Given the description of an element on the screen output the (x, y) to click on. 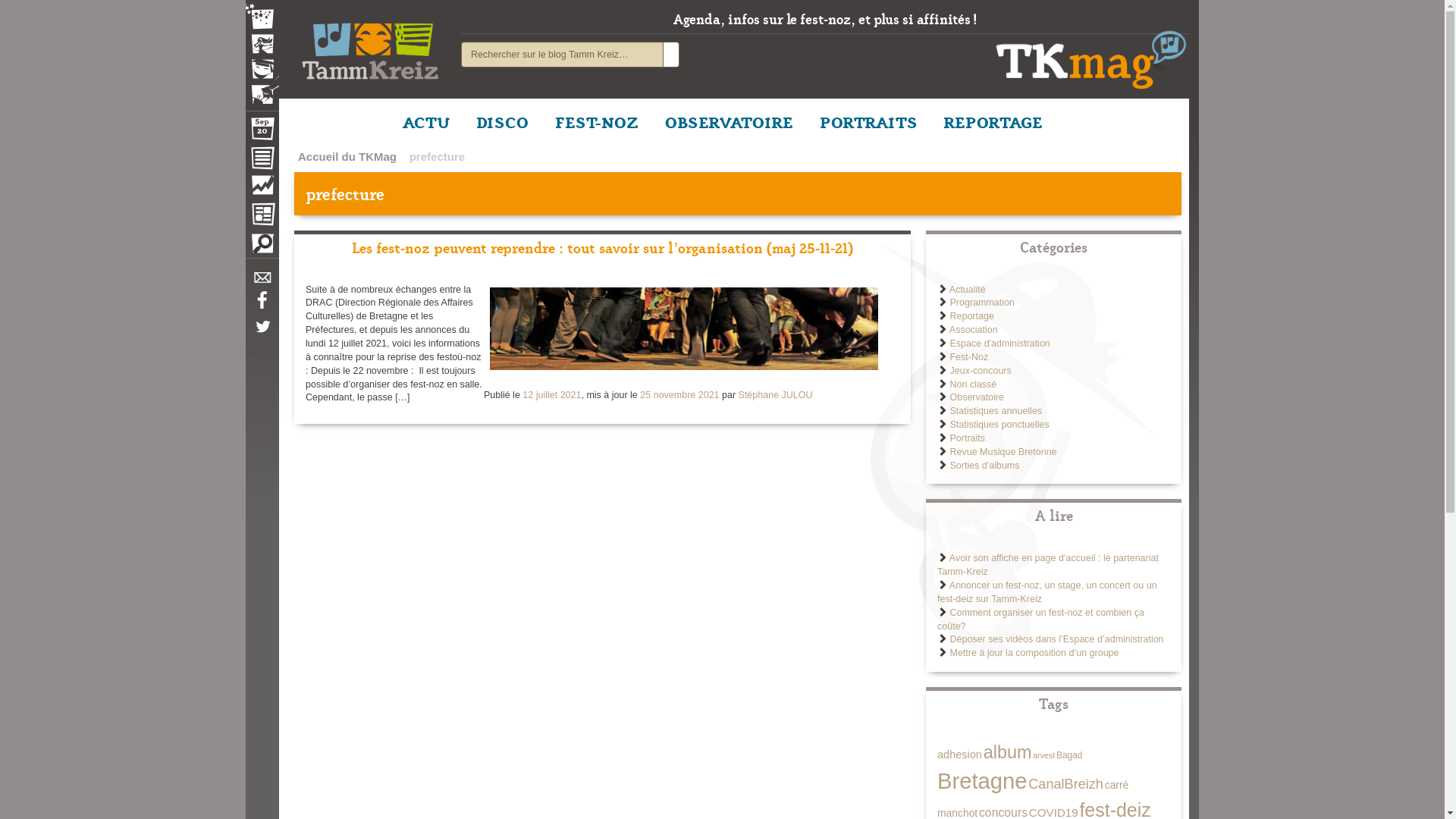
ACTU Element type: text (425, 120)
adhesion Element type: text (959, 754)
Contact Element type: text (262, 281)
Accueil du TKMag Element type: text (347, 156)
Ensembles traditionnels Element type: text (262, 88)
OBSERVATOIRE Element type: text (729, 120)
Bretagne Element type: text (981, 780)
Portraits Element type: text (967, 438)
Espace d'administration Element type: text (999, 343)
arvest Element type: text (1043, 754)
Programmation Element type: text (981, 302)
Petites annonces Element type: text (262, 246)
Bagad Element type: text (1069, 754)
Facebook Element type: text (262, 305)
Fest-Noz Element type: text (968, 356)
Annuaire Element type: text (262, 160)
Twitter Element type: text (262, 334)
25 novembre 2021 Element type: text (679, 394)
Tamm Kreiz Element type: hover (370, 45)
DISCO Element type: text (502, 120)
Festnoz Element type: text (262, 17)
REPORTAGE Element type: text (993, 120)
CanalBreizh Element type: text (1065, 783)
Magazine Element type: text (262, 215)
Sorties d'albums Element type: text (984, 465)
Agenda Element type: text (262, 131)
12 juillet 2021 Element type: text (551, 394)
Association Element type: text (973, 329)
Observatoire Element type: text (976, 397)
Jeux-concours Element type: text (979, 370)
album Element type: text (1007, 752)
Statistiques annuelles Element type: text (995, 410)
FEST-NOZ Element type: text (596, 120)
Concerts Element type: text (262, 45)
Reportage Element type: text (971, 315)
Statistiques ponctuelles Element type: text (998, 424)
Formation Element type: text (262, 73)
Rechercher : Element type: hover (562, 54)
Observatoire Element type: text (262, 188)
Revue Musique Bretonne Element type: text (1002, 451)
PORTRAITS Element type: text (868, 120)
